Given the description of an element on the screen output the (x, y) to click on. 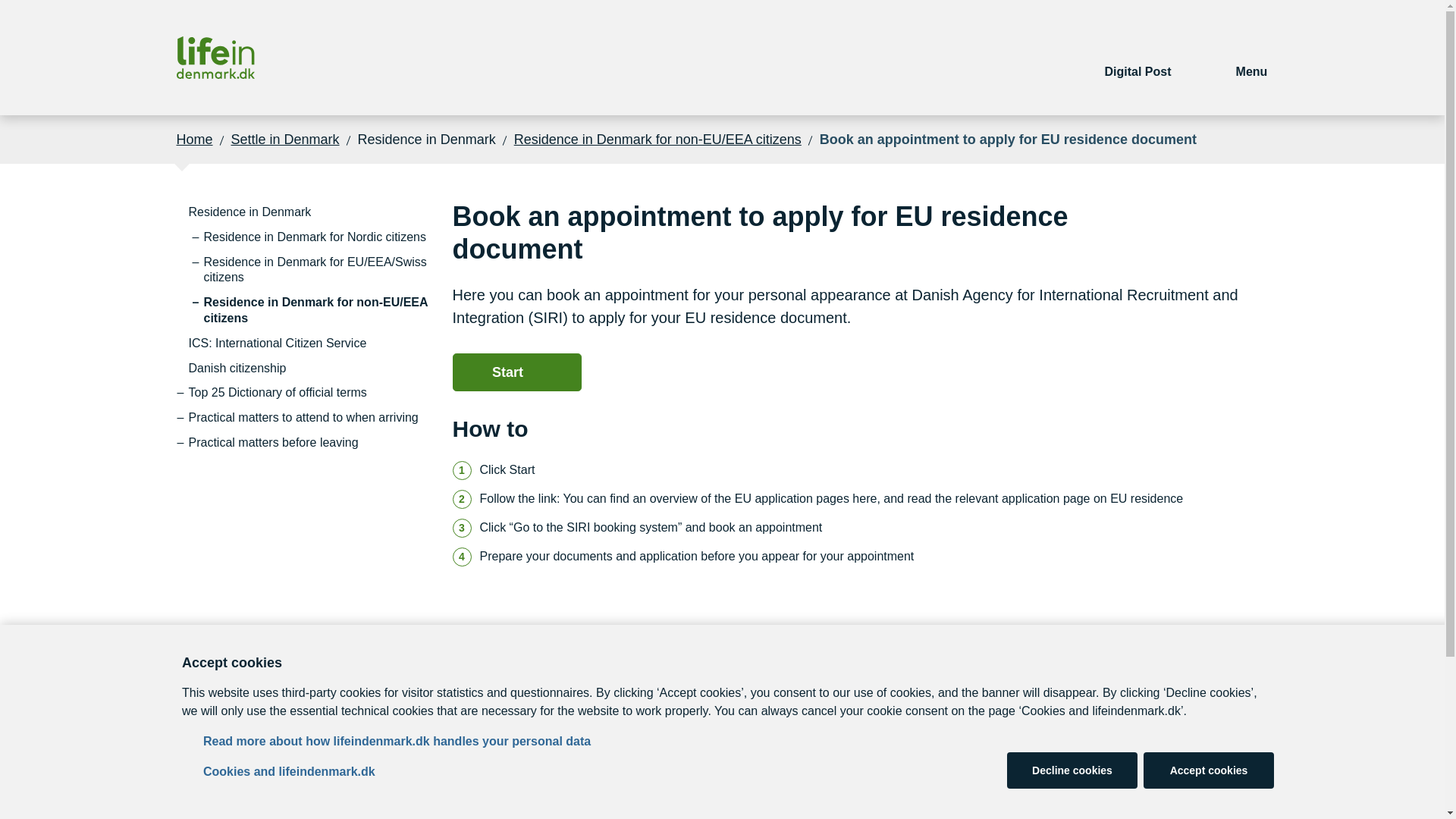
lifeindenmark.dk (215, 57)
Decline cookies (1072, 770)
Cookies and lifeindenmark.dk (289, 771)
Menu (1251, 57)
Digital Post (1138, 57)
Your e-mail (1138, 57)
Accept cookies (1208, 770)
Home (194, 139)
Residence in Denmark (249, 212)
Residence in Denmark for Nordic citizens (314, 237)
ICS: International Citizen Service (277, 343)
Settle in Denmark (285, 139)
